Given the description of an element on the screen output the (x, y) to click on. 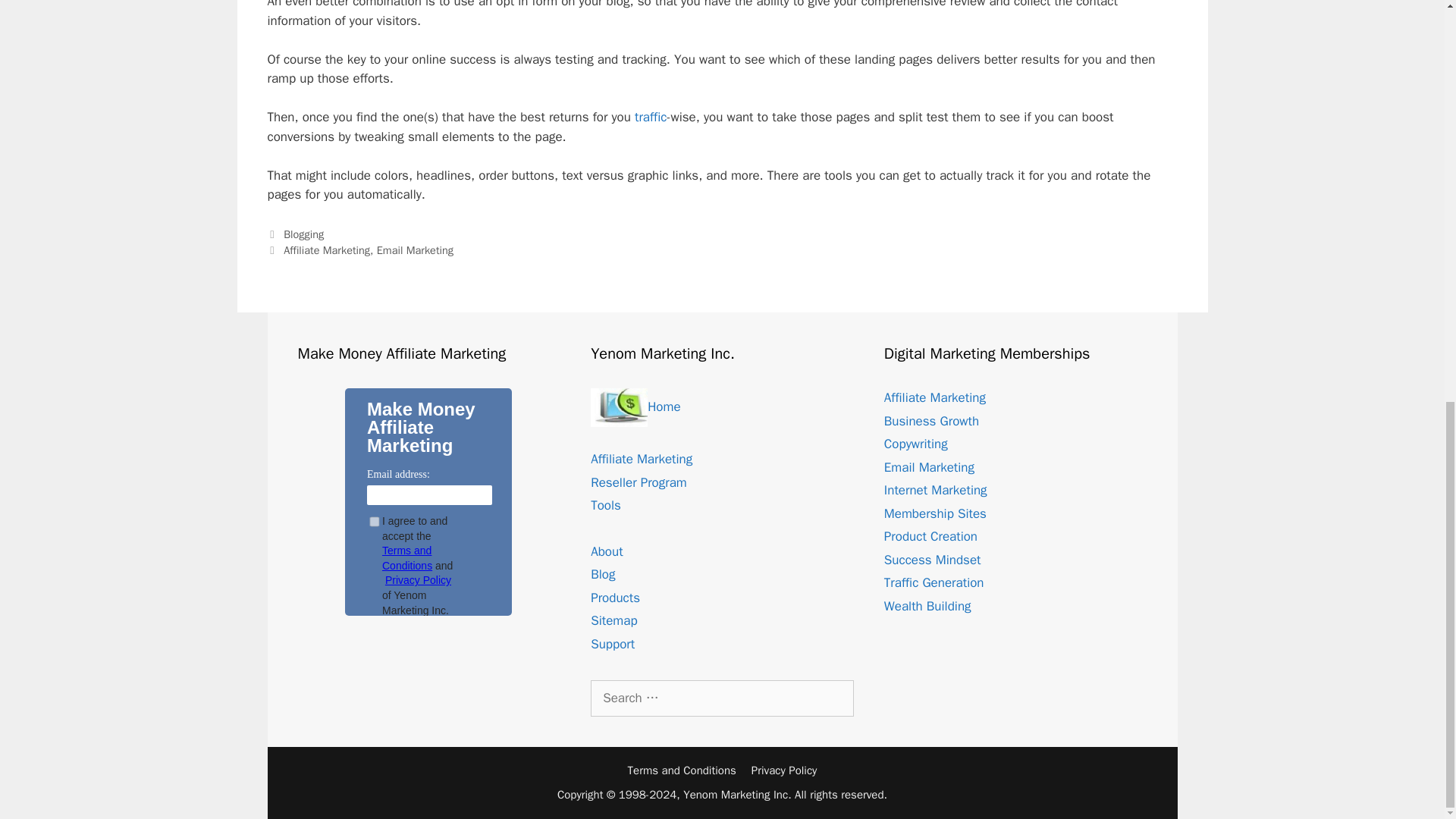
Business Growth (930, 421)
Blog (602, 574)
Internet Marketing (935, 489)
Support (612, 643)
Tools (606, 505)
Reseller Program (639, 482)
Blogging (303, 233)
Copywriting (915, 443)
Affiliate Marketing (934, 397)
Affiliate Marketing (326, 250)
Traffic Generation Resources (650, 116)
Affiliate Marketing (642, 458)
Home (635, 406)
Email Marketing (928, 467)
Email Marketing (414, 250)
